Given the description of an element on the screen output the (x, y) to click on. 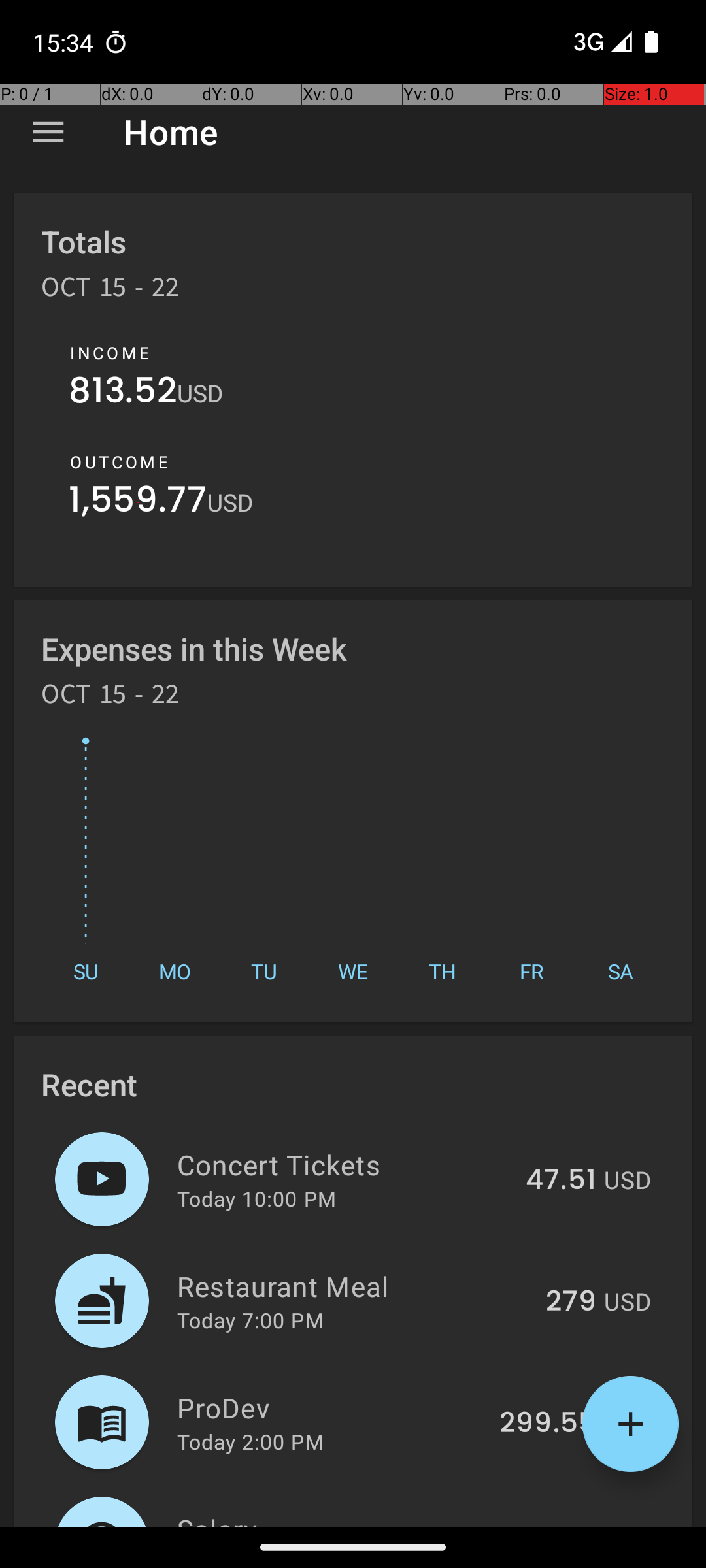
813.52 Element type: android.widget.TextView (122, 393)
1,559.77 Element type: android.widget.TextView (137, 502)
Concert Tickets Element type: android.widget.TextView (343, 1164)
47.51 Element type: android.widget.TextView (560, 1180)
Restaurant Meal Element type: android.widget.TextView (353, 1285)
279 Element type: android.widget.TextView (570, 1301)
ProDev Element type: android.widget.TextView (330, 1407)
299.55 Element type: android.widget.TextView (547, 1423)
Salary Element type: android.widget.TextView (332, 1518)
229.43 Element type: android.widget.TextView (549, 1524)
